Given the description of an element on the screen output the (x, y) to click on. 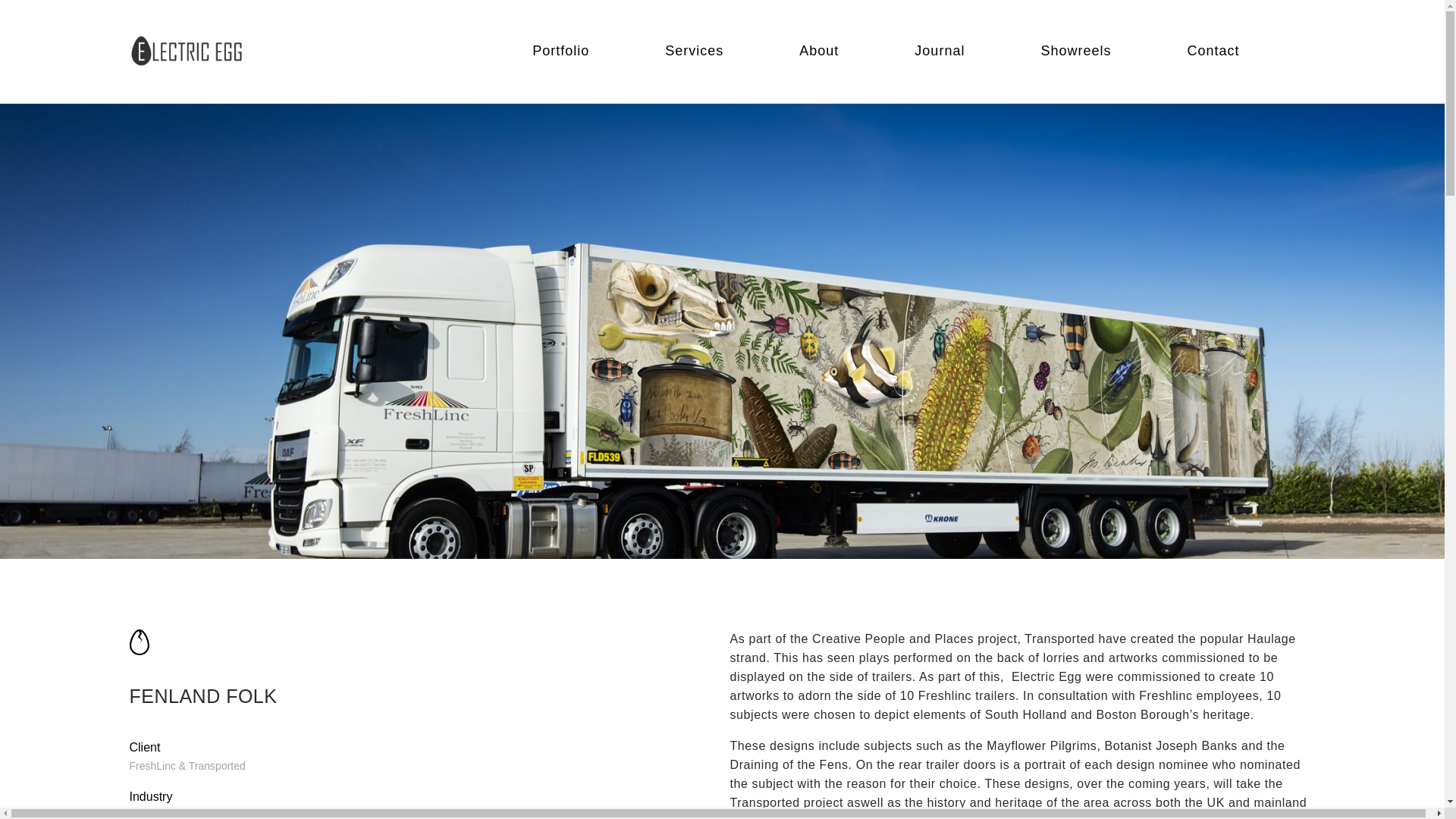
Journal (938, 50)
Portfolio (560, 50)
Contact (1212, 50)
Services (694, 50)
Showreels (1075, 50)
About (818, 50)
